Given the description of an element on the screen output the (x, y) to click on. 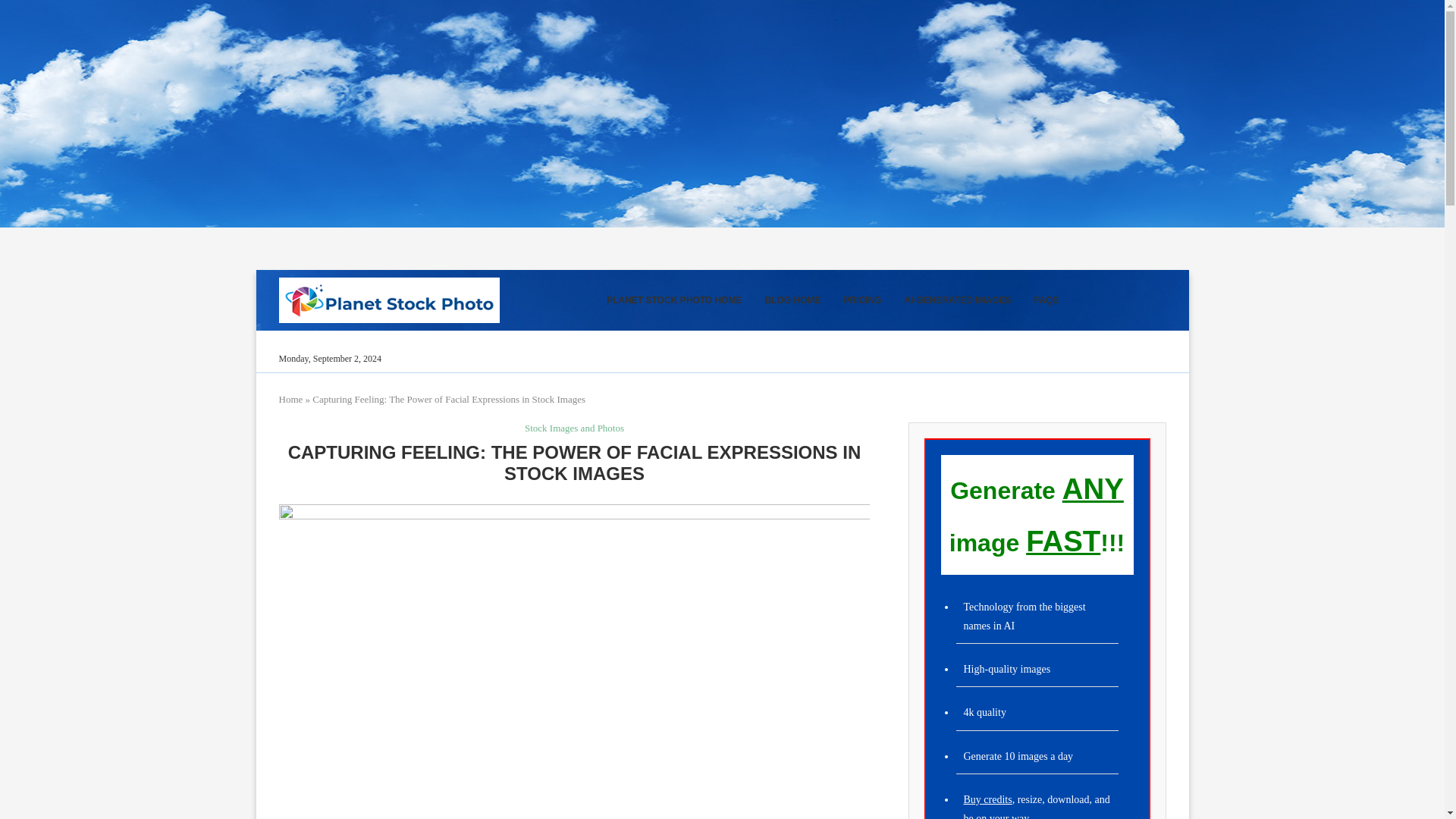
AI-GENERATED IMAGES (957, 300)
PLANET STOCK PHOTO HOME (674, 300)
BLOG HOME (792, 300)
Stock Images and Photos (574, 428)
Home (290, 398)
